Given the description of an element on the screen output the (x, y) to click on. 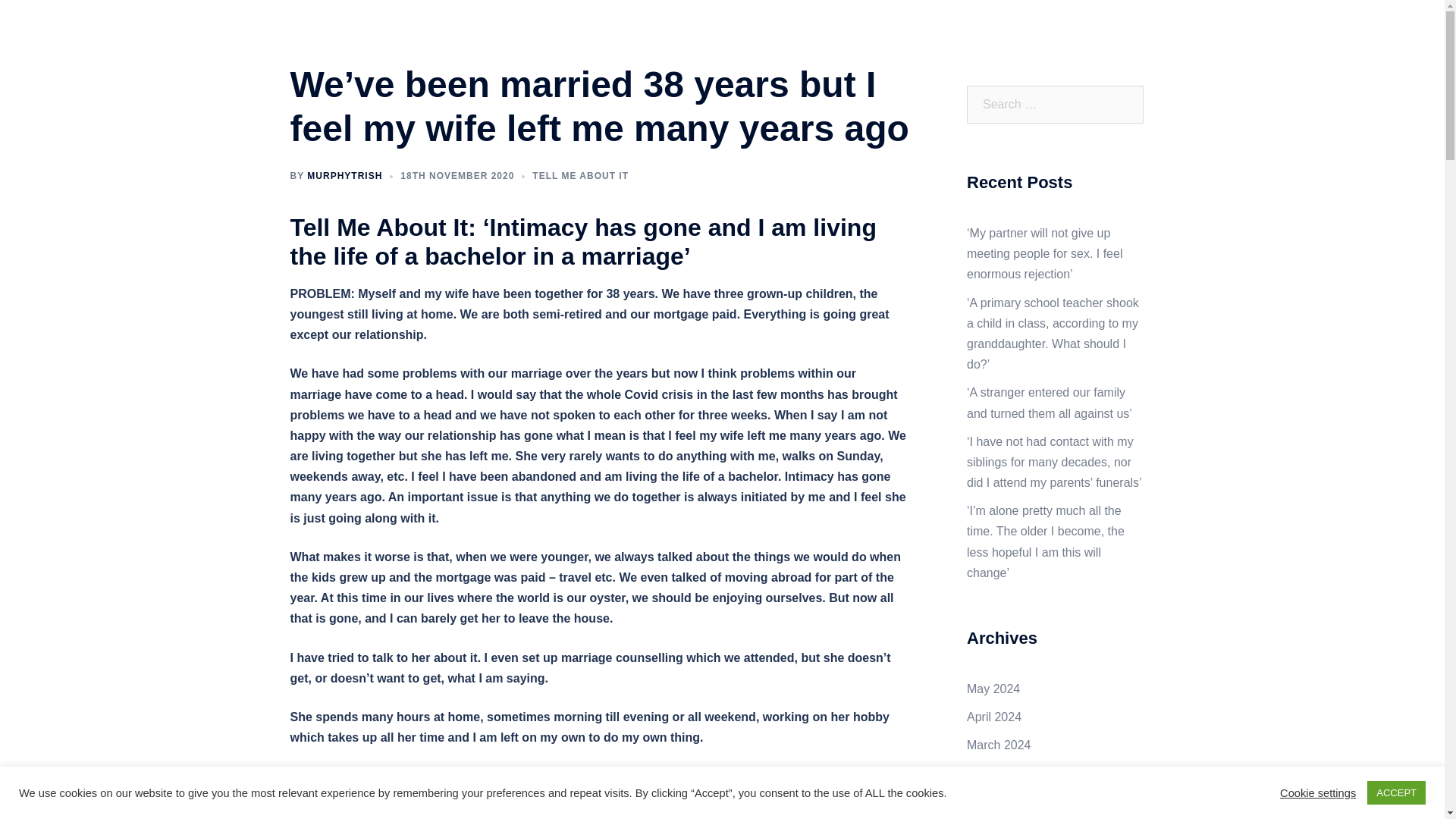
April 2024 (994, 716)
Book (1073, 44)
Search (47, 18)
18TH NOVEMBER 2020 (456, 175)
February 2024 (1005, 773)
Contact (1124, 44)
TELL ME ABOUT IT (580, 175)
January 2024 (1003, 801)
Published Articles (998, 44)
MURPHYTRISH (344, 175)
Home (859, 44)
Services (915, 44)
May 2024 (993, 688)
Trish Murphy Psychotherapy (376, 43)
March 2024 (998, 744)
